Given the description of an element on the screen output the (x, y) to click on. 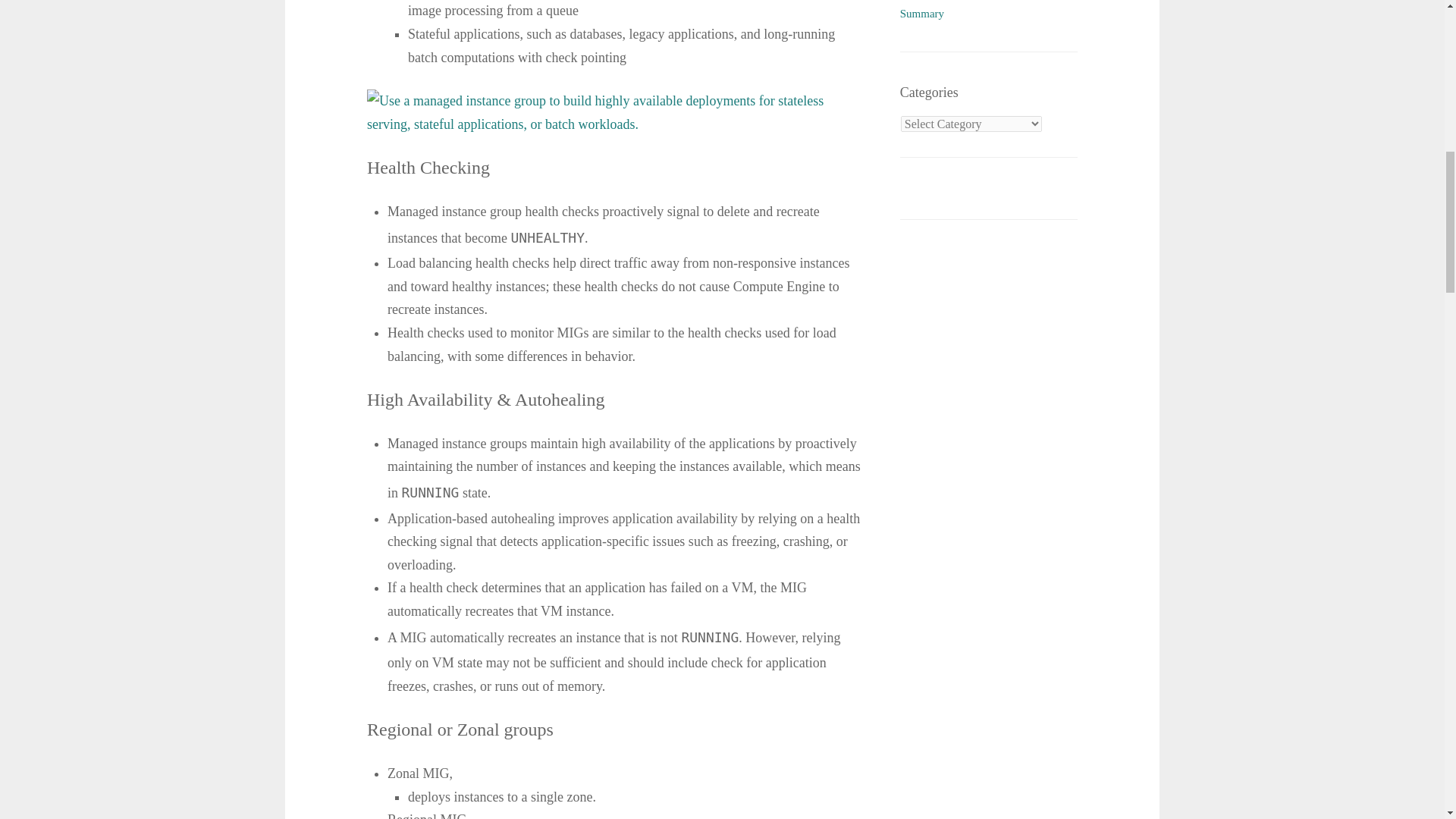
AWS SageMaker Built-in Algorithms Summary (985, 9)
